Given the description of an element on the screen output the (x, y) to click on. 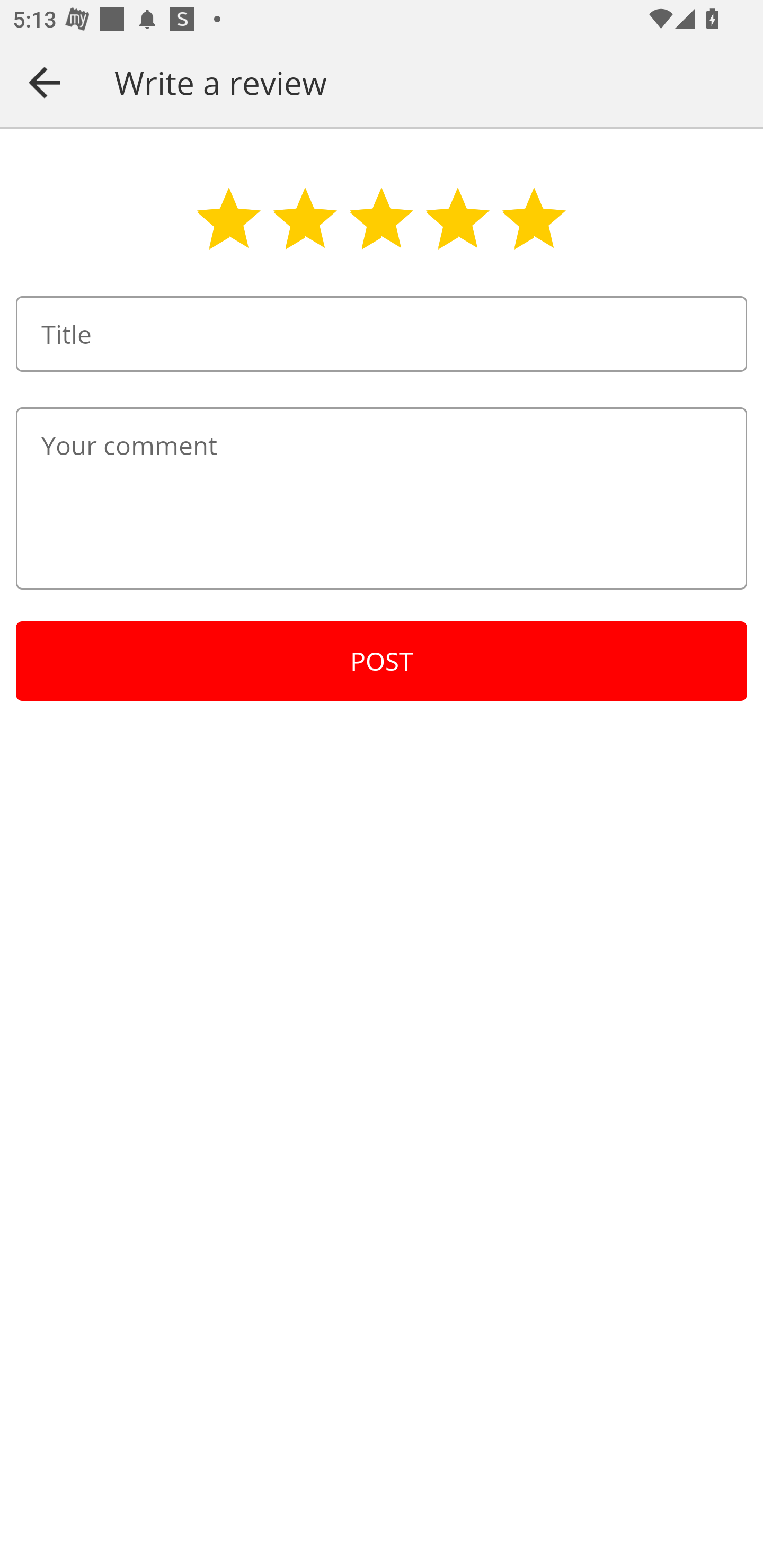
Navigate up (44, 82)
Title (381, 333)
Your comment (381, 498)
POST (381, 660)
